Given the description of an element on the screen output the (x, y) to click on. 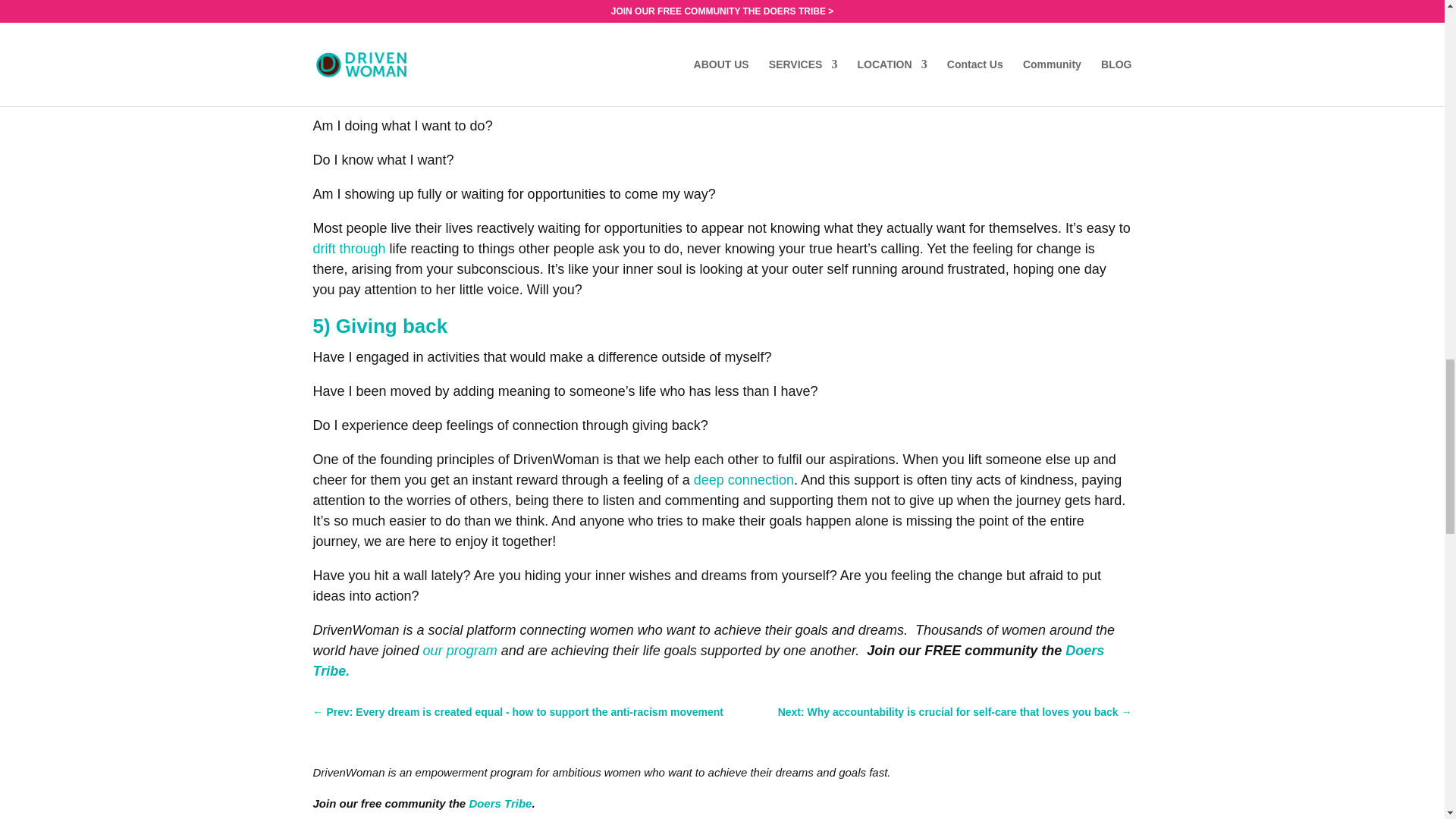
Moving From Drifting To Acting (349, 248)
Learning To Trust Your Path (845, 37)
8 Real Ways to Love Yourself Deeply (743, 479)
